Given the description of an element on the screen output the (x, y) to click on. 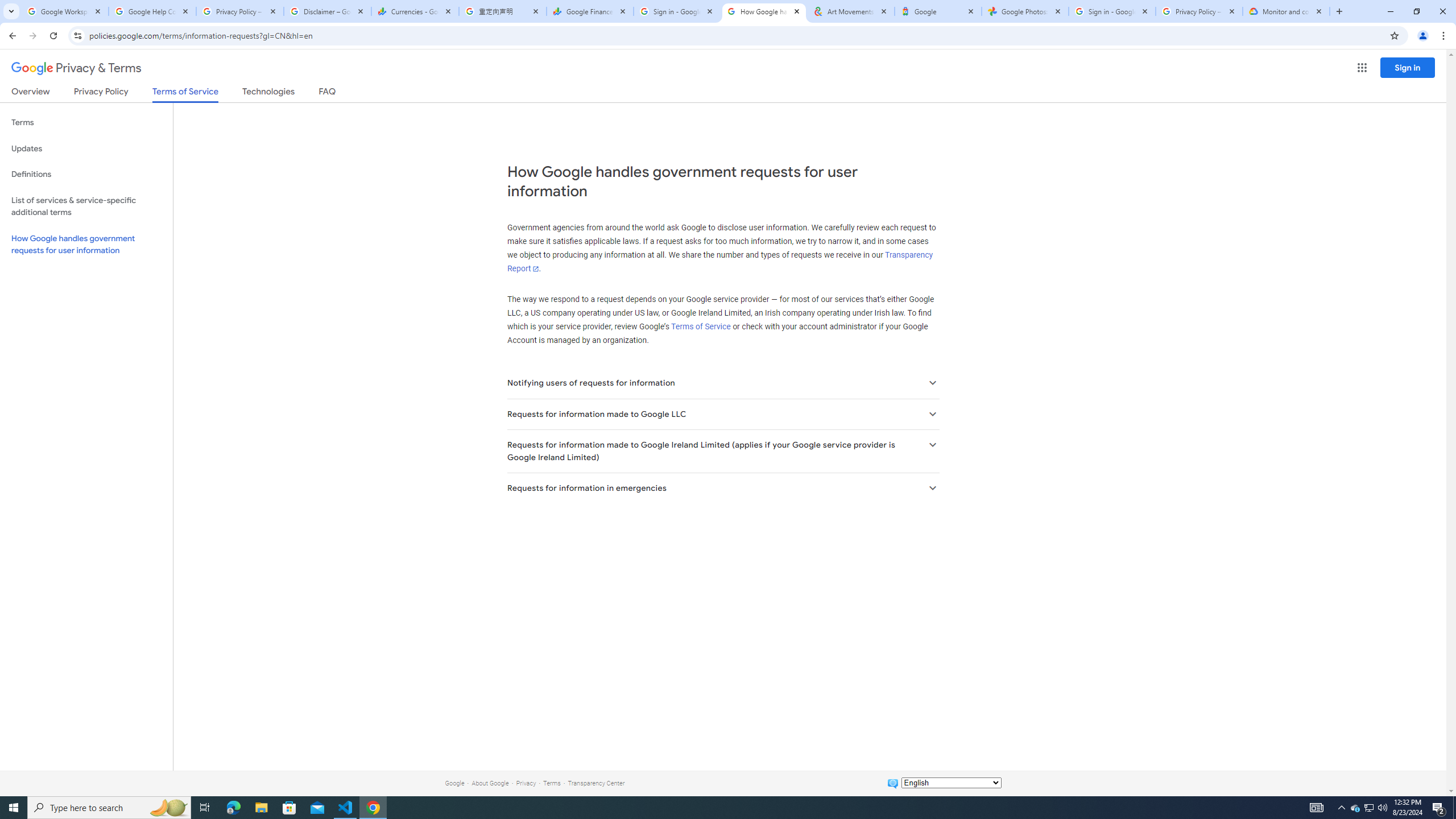
Transparency Center (595, 783)
Google (938, 11)
